Given the description of an element on the screen output the (x, y) to click on. 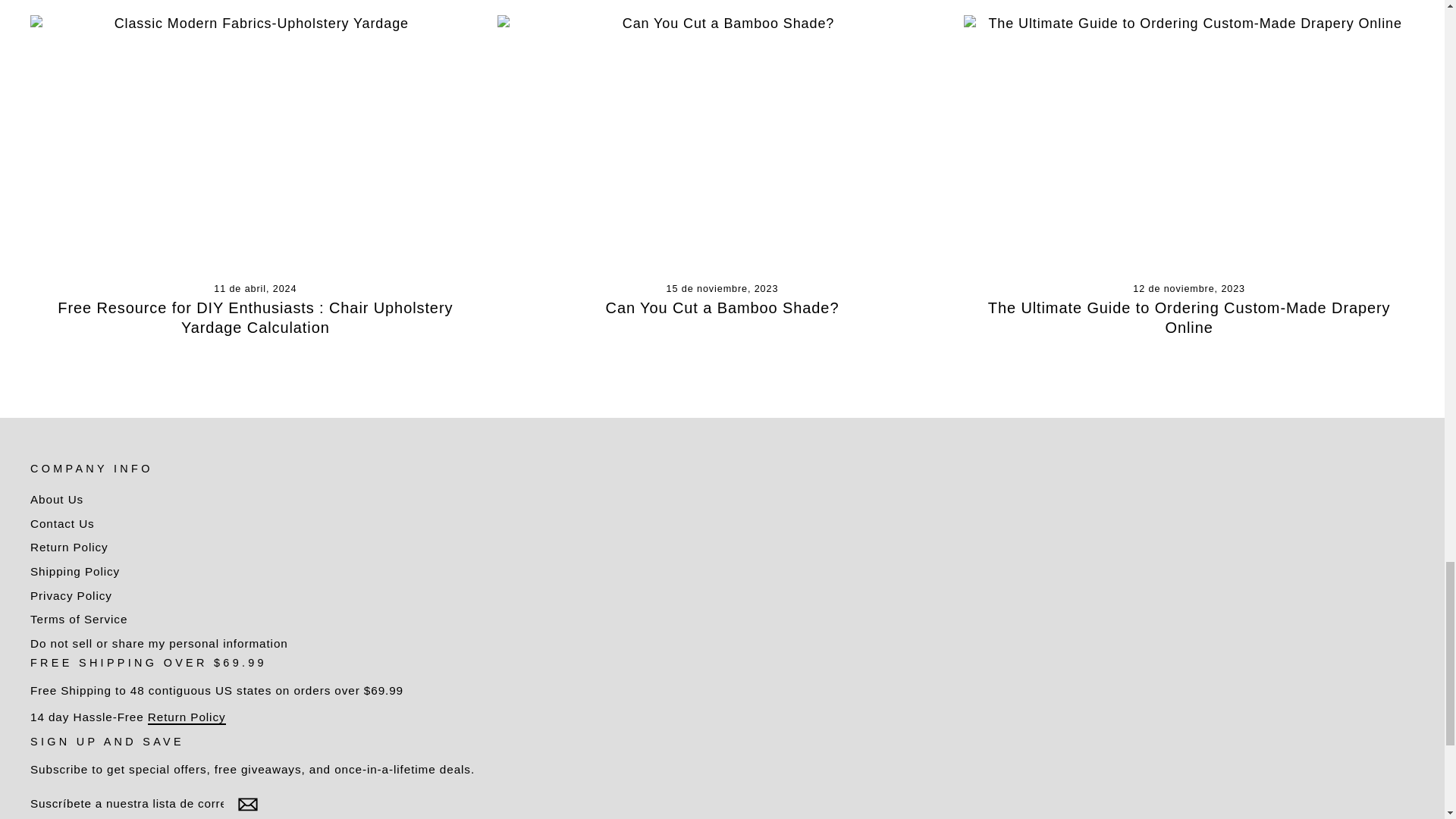
icon-email (247, 804)
Return Policy (186, 717)
